Given the description of an element on the screen output the (x, y) to click on. 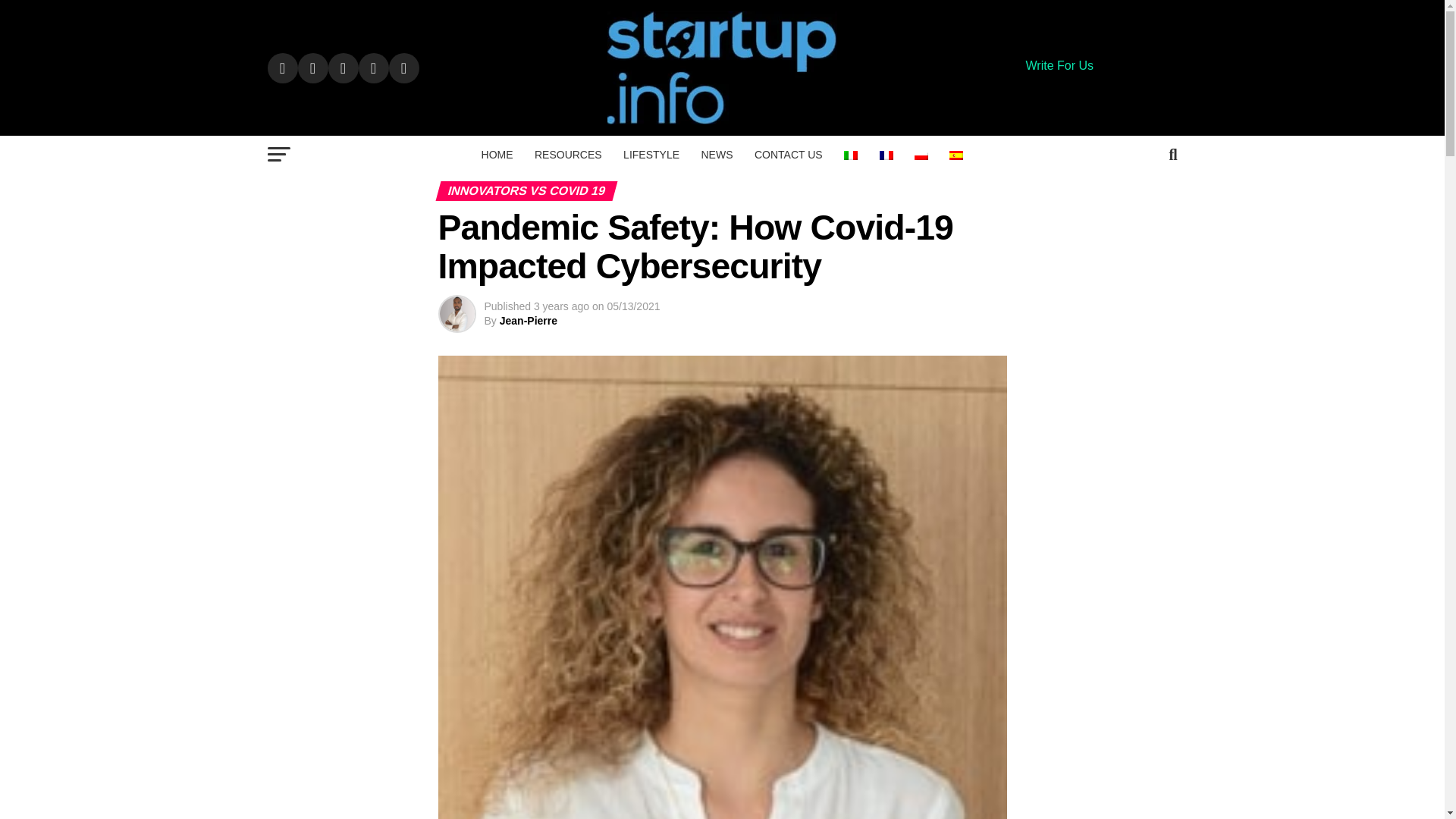
HOME (496, 154)
RESOURCES (568, 154)
LIFESTYLE (651, 154)
Write For Us (1059, 65)
NEWS (716, 154)
